Given the description of an element on the screen output the (x, y) to click on. 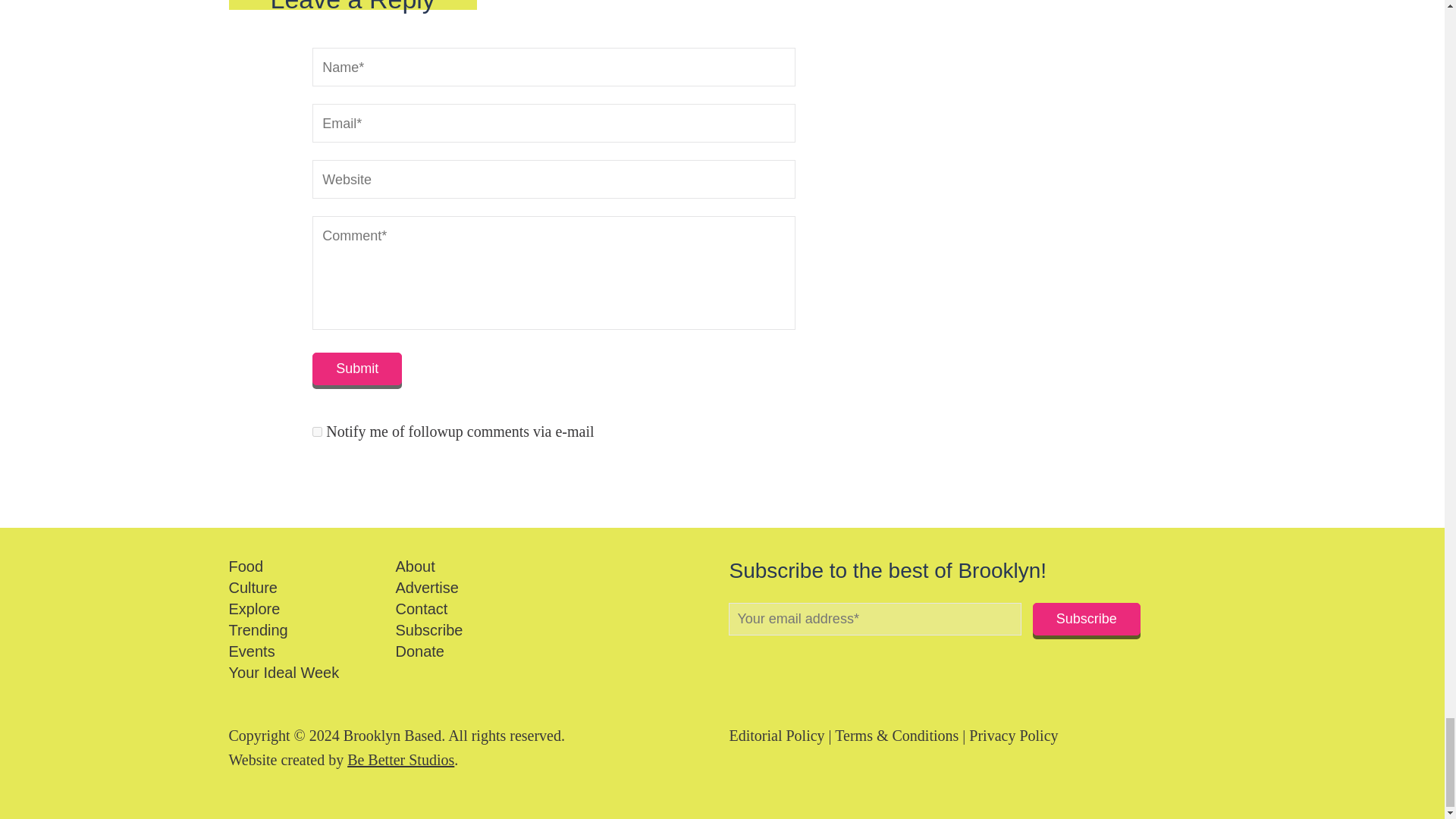
Follow Brooklyn Based on Twitter (759, 658)
Submit (357, 368)
subscribe (317, 431)
Follow Brooklyn Based on Instagram (787, 658)
Submit (357, 368)
Subscribe (1086, 618)
